Given the description of an element on the screen output the (x, y) to click on. 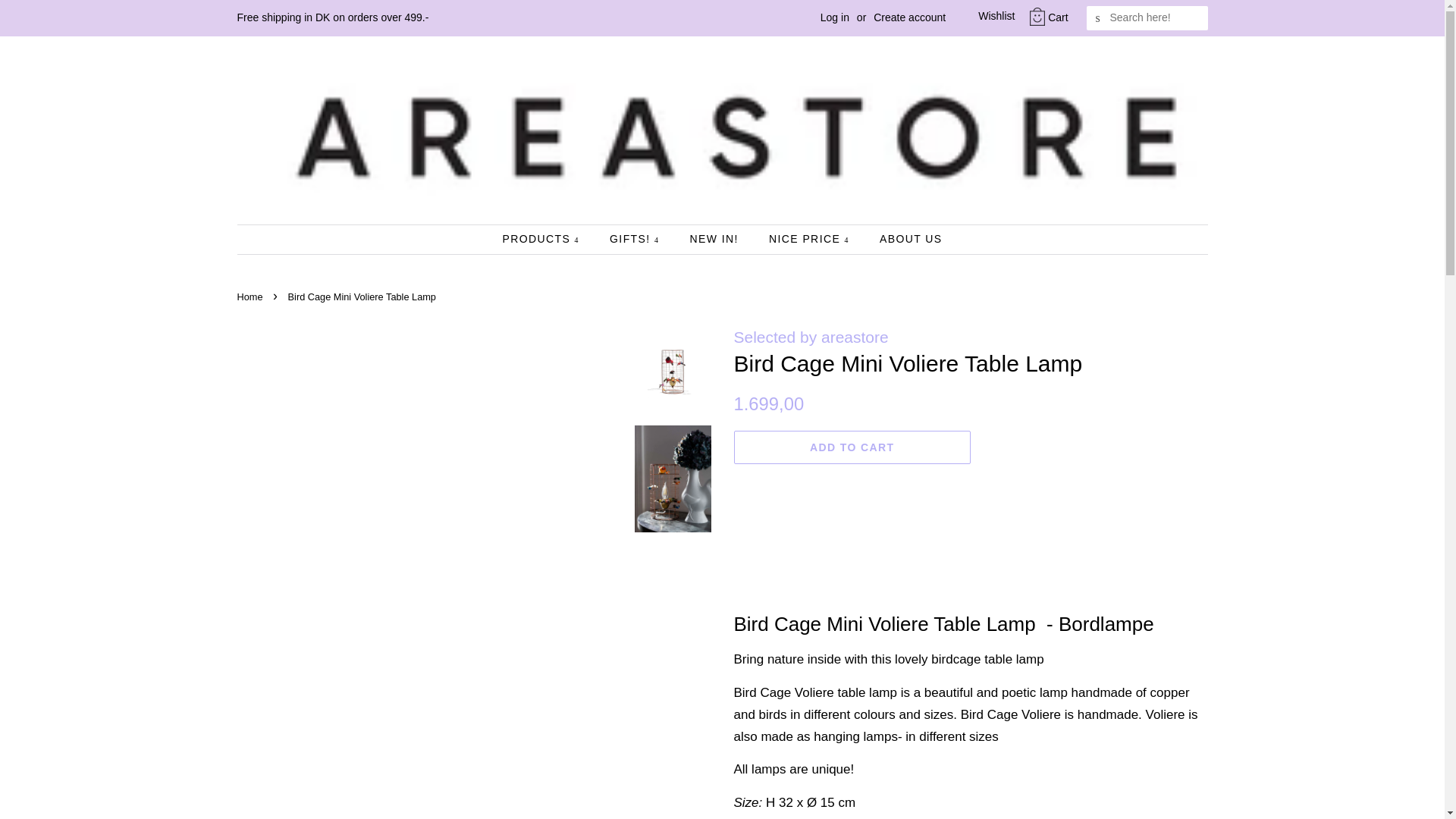
Create account (908, 17)
Cart (1057, 18)
Back to the frontpage (250, 296)
Selected by areastore (810, 336)
Log in (834, 17)
Wishlist (984, 16)
SEARCH (1097, 18)
